Given the description of an element on the screen output the (x, y) to click on. 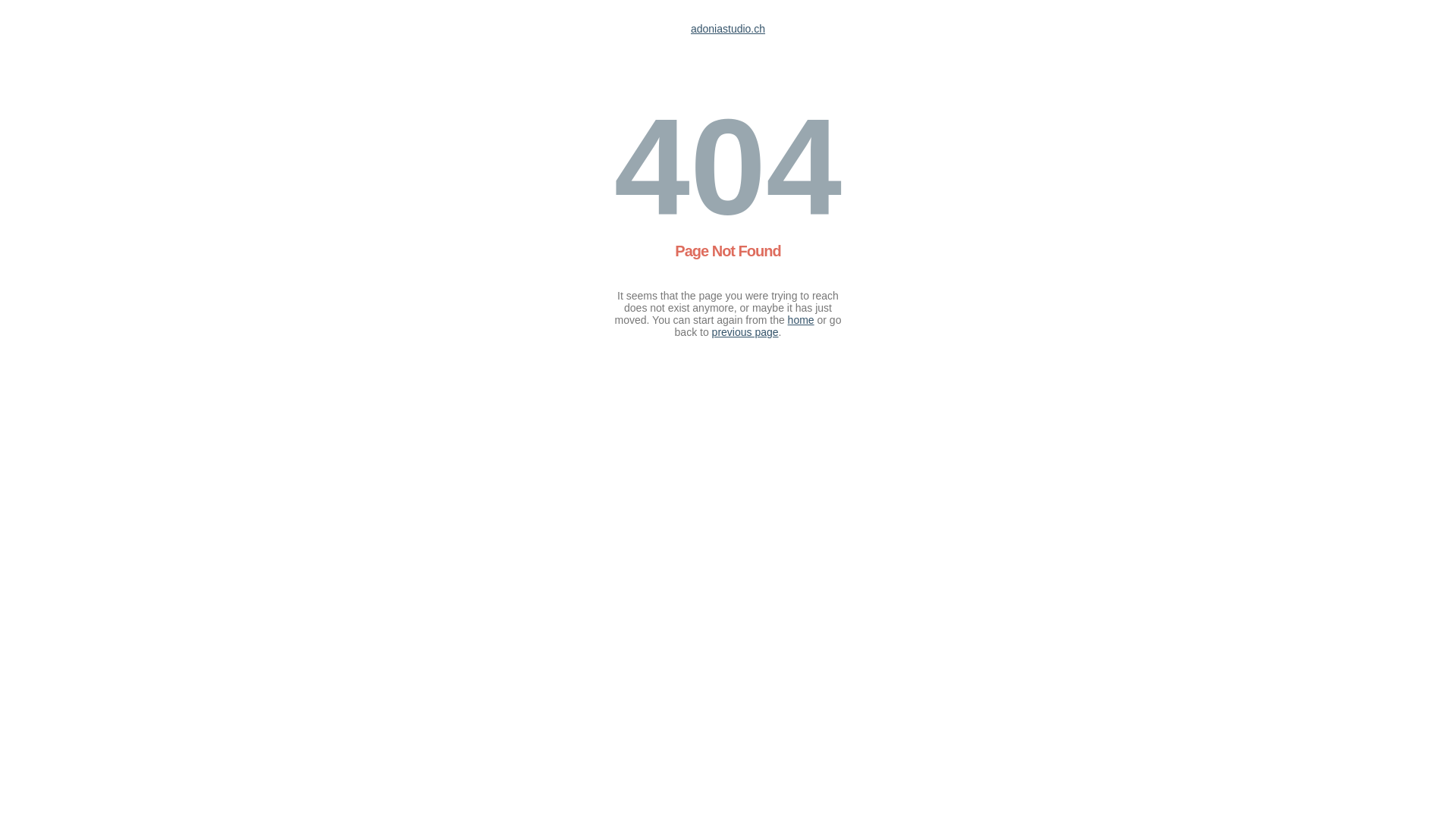
home Element type: text (800, 319)
adoniastudio.ch Element type: text (727, 28)
previous page Element type: text (745, 332)
